Given the description of an element on the screen output the (x, y) to click on. 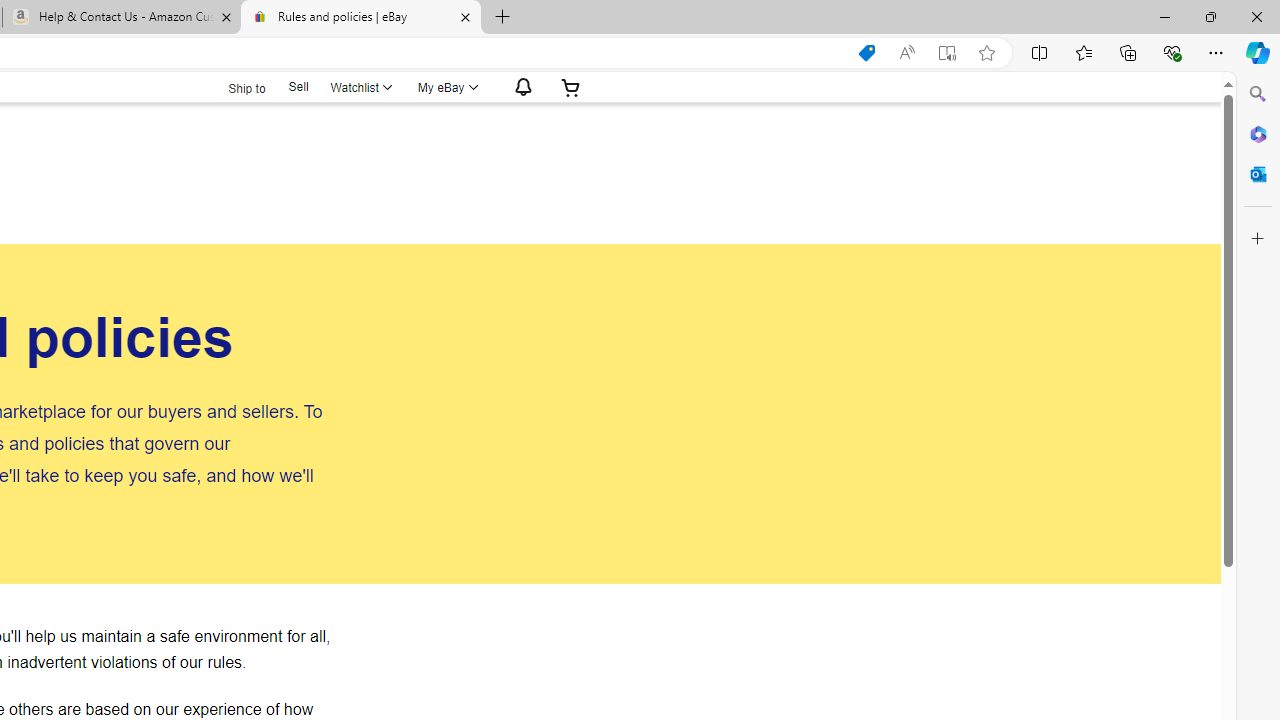
Watchlist (359, 87)
My eBay (445, 87)
Ship to (234, 85)
WatchlistExpand Watch List (359, 87)
Rules and policies | eBay (360, 17)
